Given the description of an element on the screen output the (x, y) to click on. 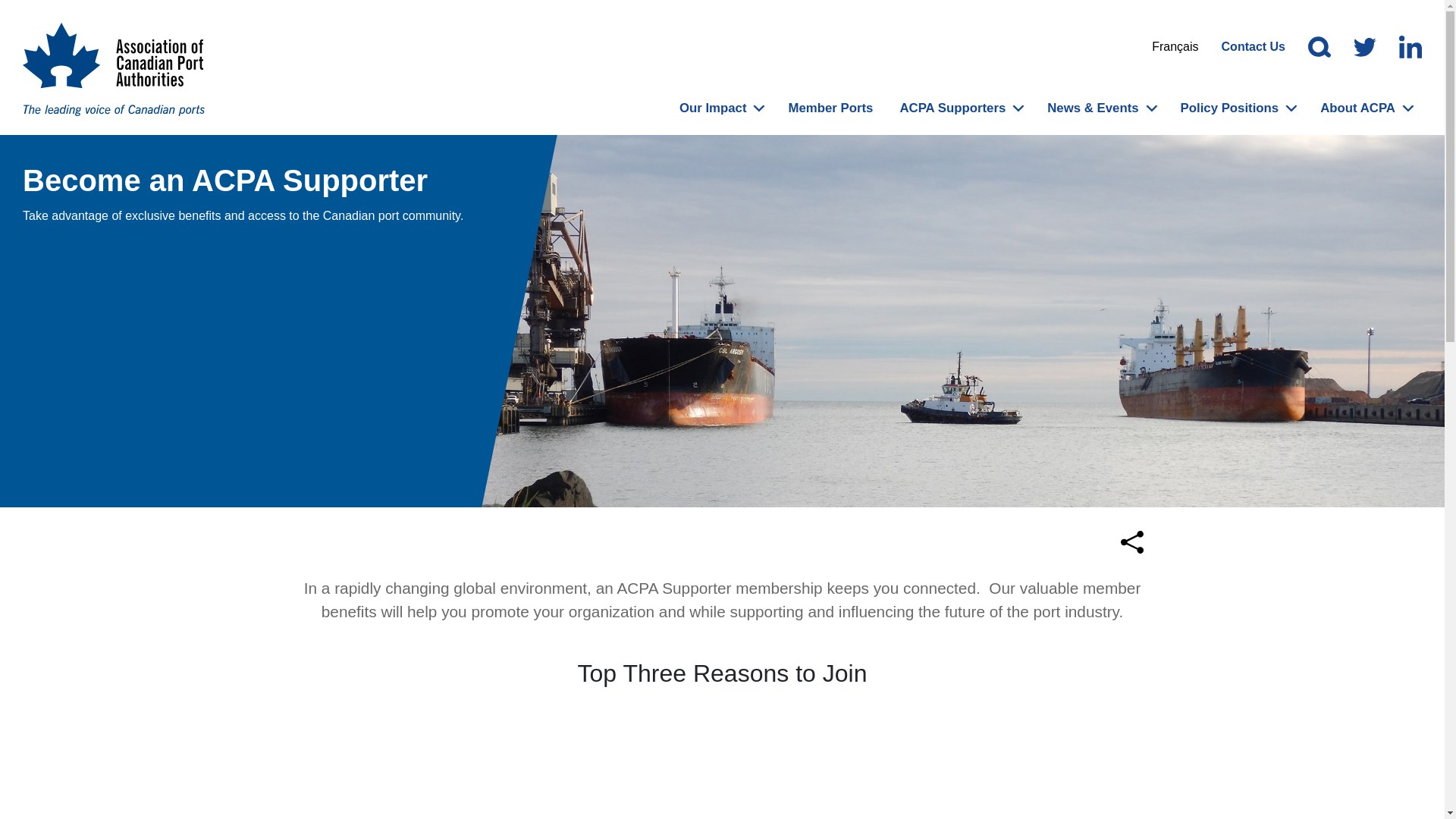
Member Ports Element type: text (822, 107)
Contact Us Element type: text (1253, 46)
About ACPA Element type: text (1357, 107)
Policy Positions Element type: text (1229, 107)
Our Impact Element type: text (713, 107)
ACPA Supporters Element type: text (952, 107)
News & Events Element type: text (1092, 107)
